Given the description of an element on the screen output the (x, y) to click on. 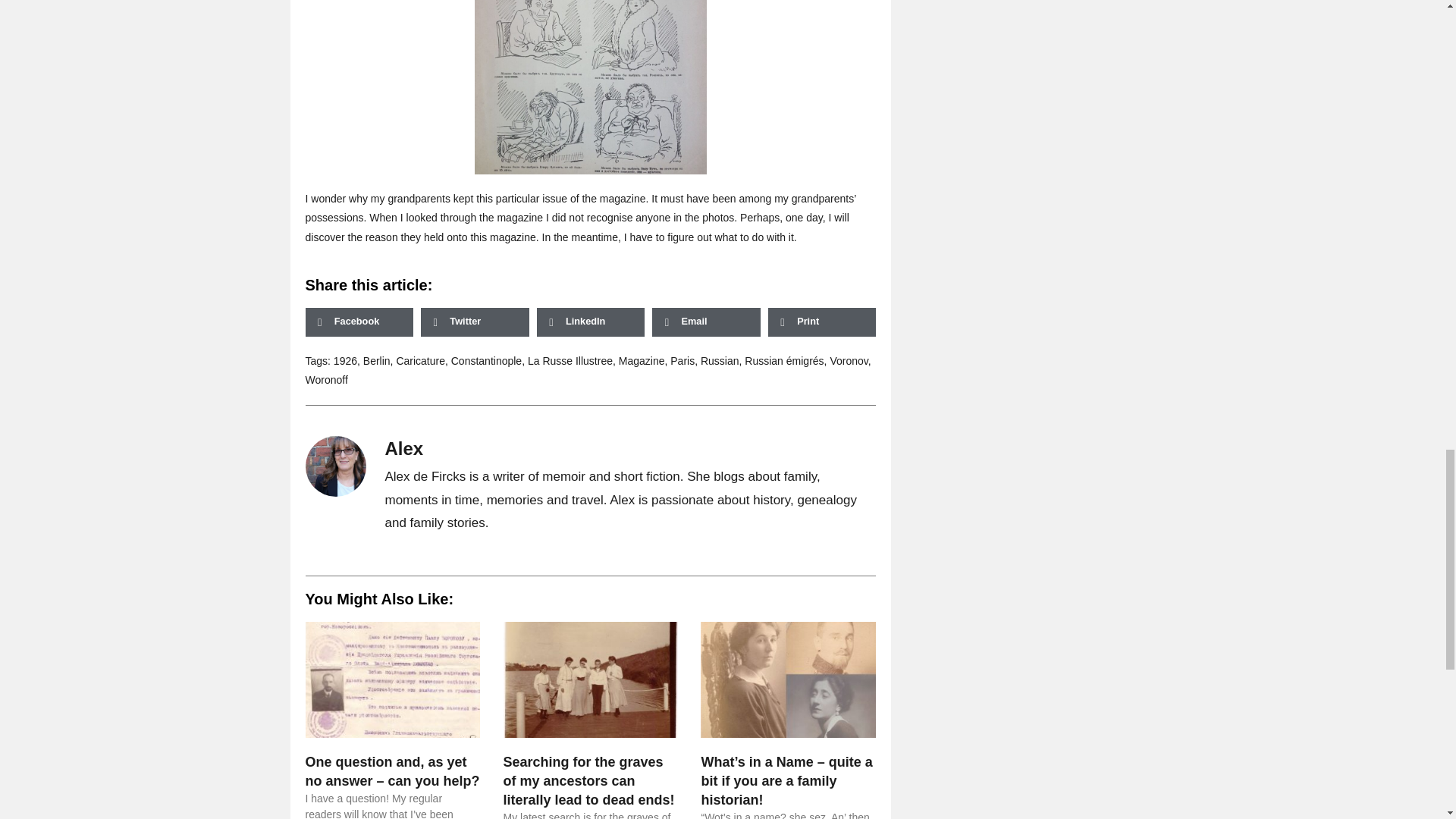
Berlin (376, 360)
Voronov (848, 360)
Paris (681, 360)
Magazine (641, 360)
Woronoff (325, 379)
Russian (719, 360)
Constantinople (486, 360)
Caricature (420, 360)
1926 (344, 360)
La Russe Illustree (569, 360)
